Given the description of an element on the screen output the (x, y) to click on. 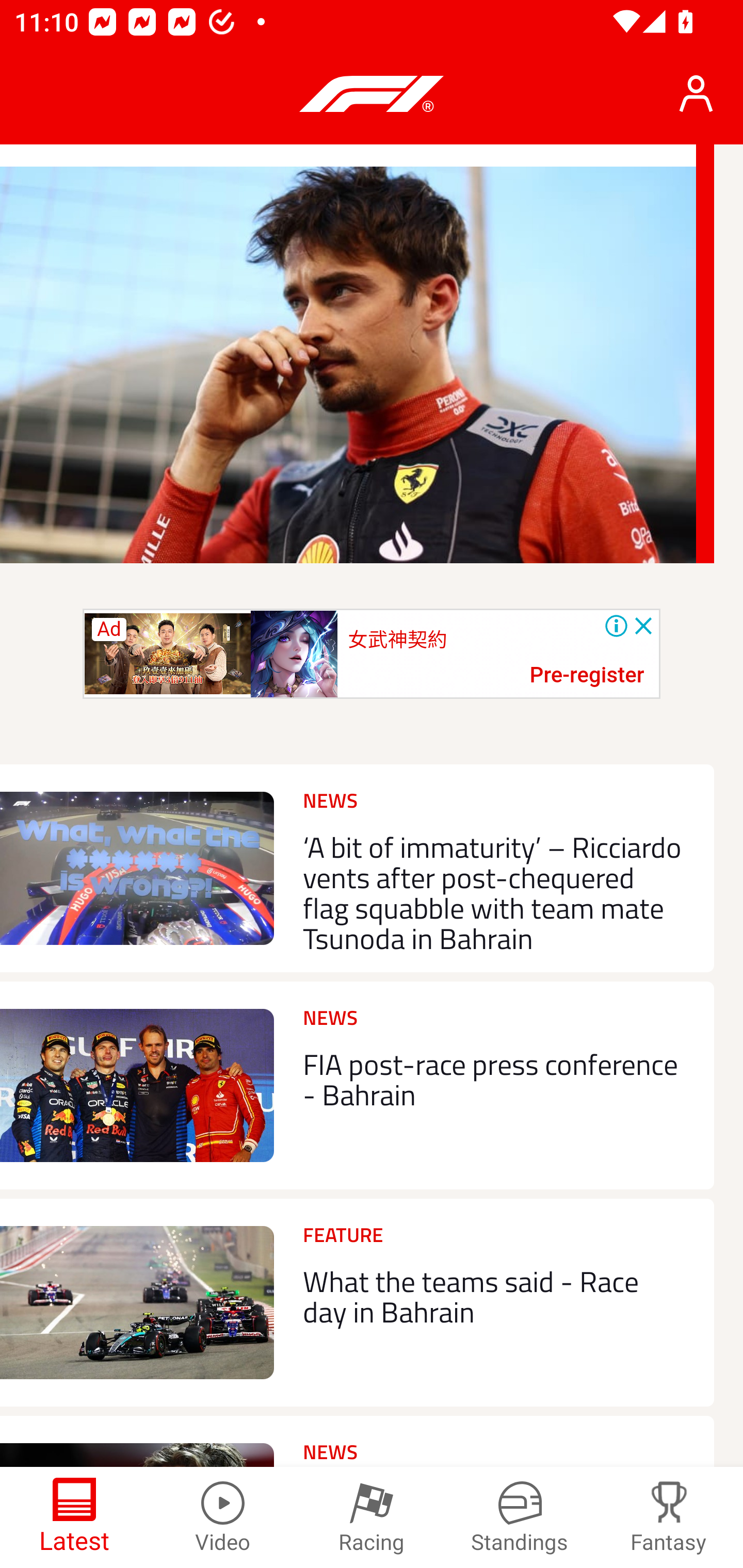
女武神契約 (397, 640)
Pre-register (586, 676)
Video (222, 1517)
Racing (371, 1517)
Standings (519, 1517)
Fantasy (668, 1517)
